Given the description of an element on the screen output the (x, y) to click on. 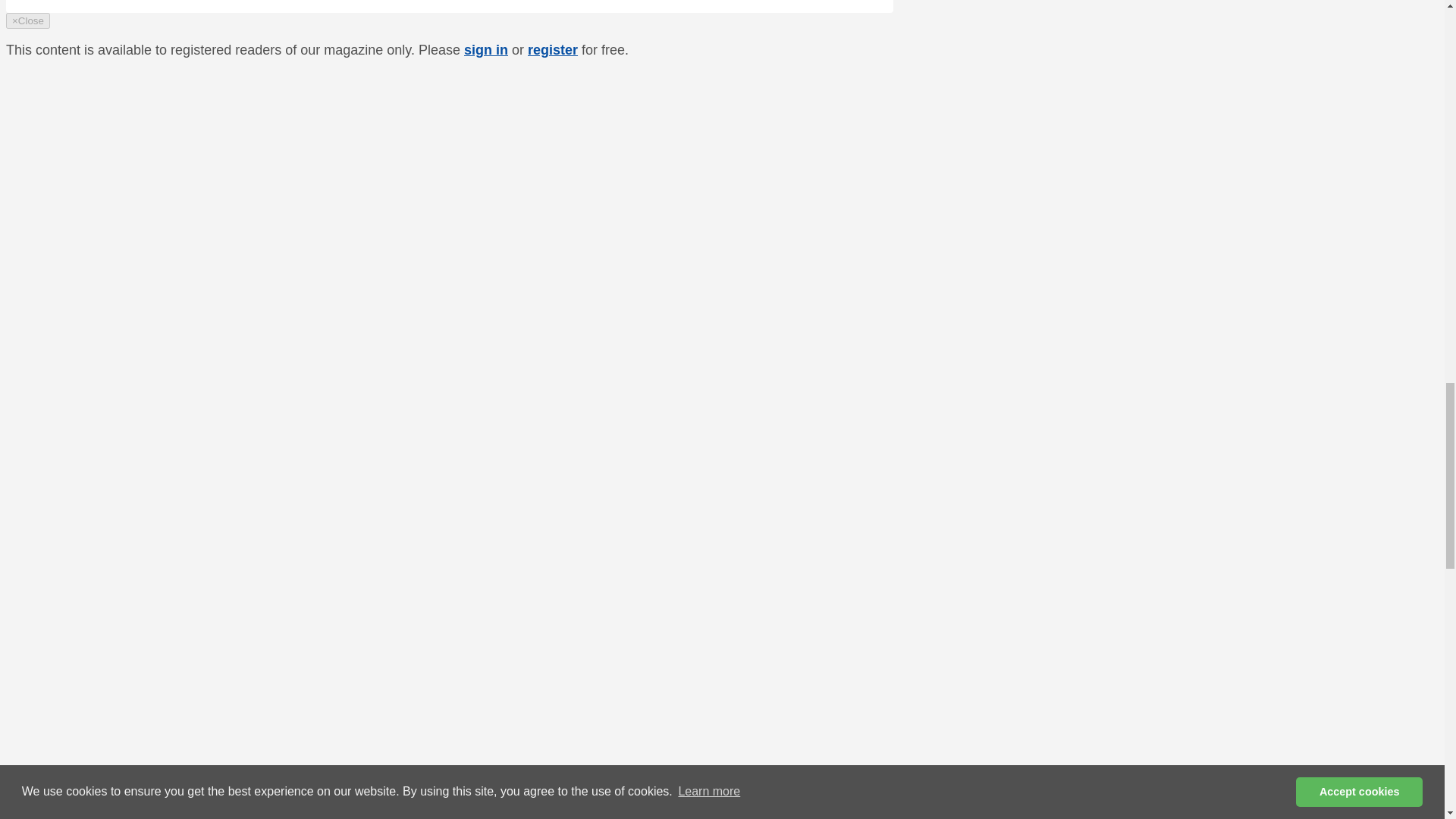
3rd party ad content (774, 520)
3rd party ad content (774, 726)
register (552, 49)
3rd party ad content (774, 104)
3rd party ad content (774, 312)
sign in (486, 49)
